Given the description of an element on the screen output the (x, y) to click on. 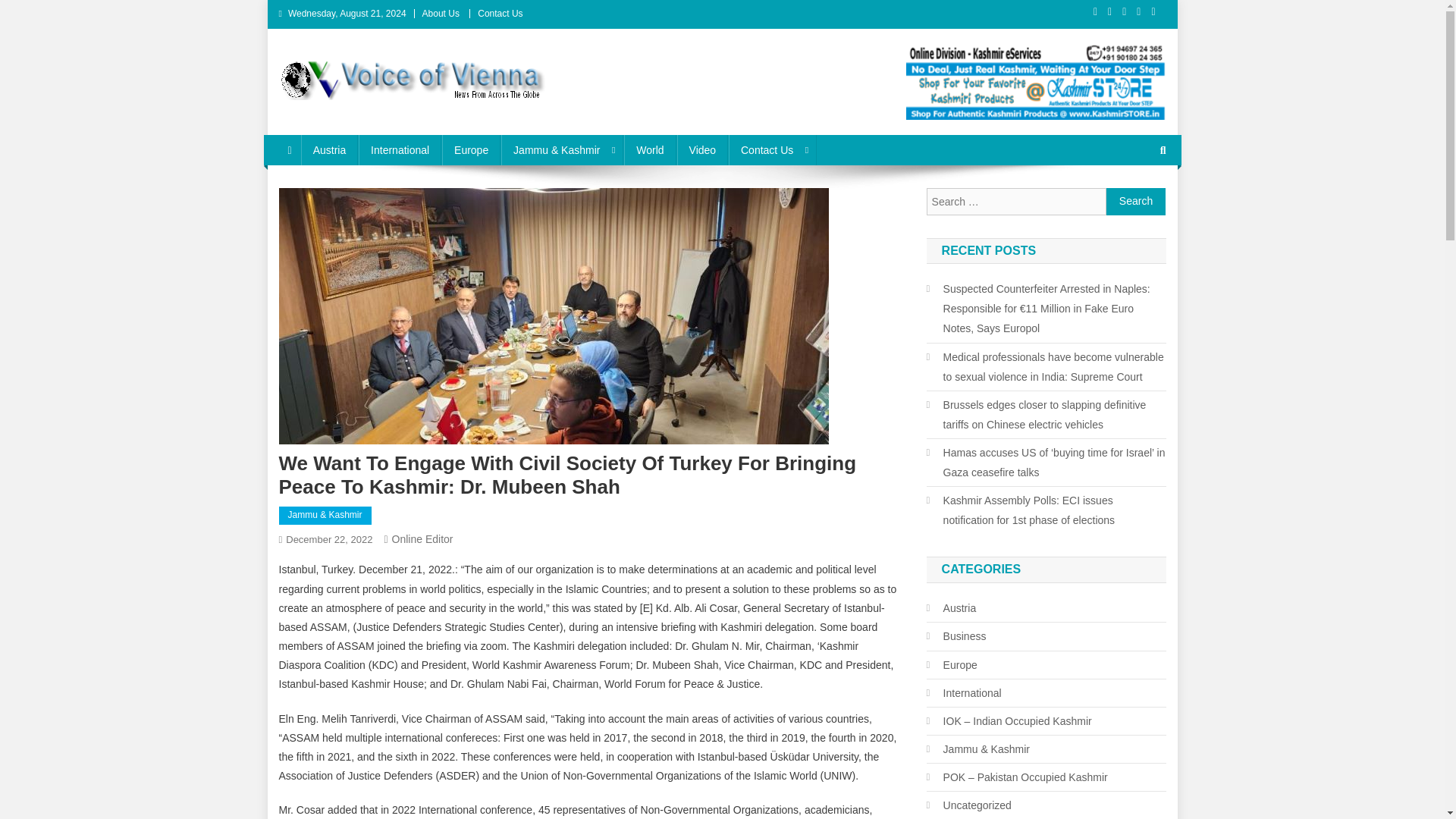
World (649, 150)
Contact Us (499, 13)
Search (1133, 200)
Europe (471, 150)
December 22, 2022 (328, 539)
Search (1136, 201)
Search (1136, 201)
Contact Us (772, 150)
International (399, 150)
Online Editor (421, 539)
